Given the description of an element on the screen output the (x, y) to click on. 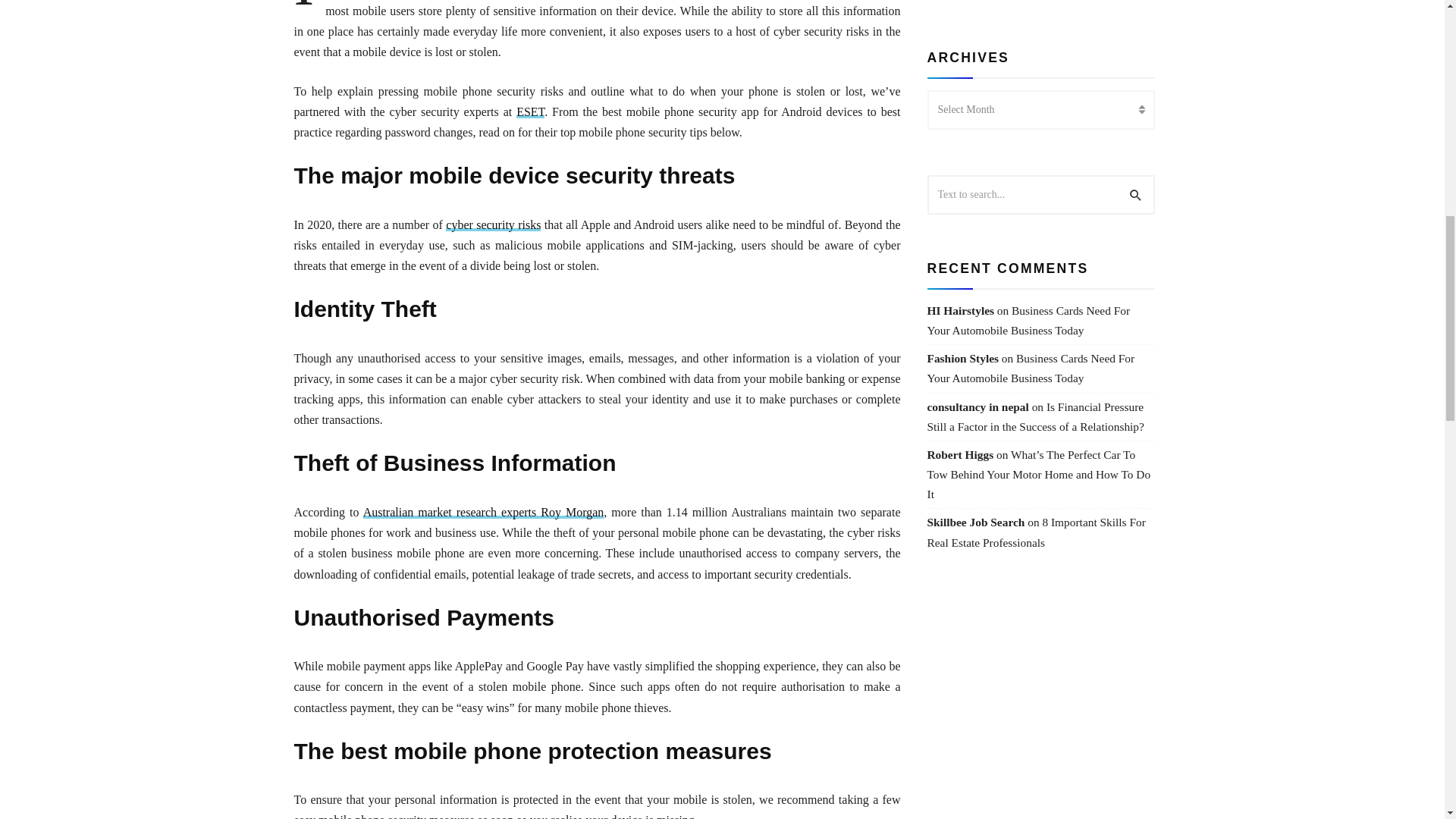
cyber security risks (492, 224)
ESET (530, 111)
Search for: (1040, 194)
Australian market research experts Roy Morgan (483, 512)
